Given the description of an element on the screen output the (x, y) to click on. 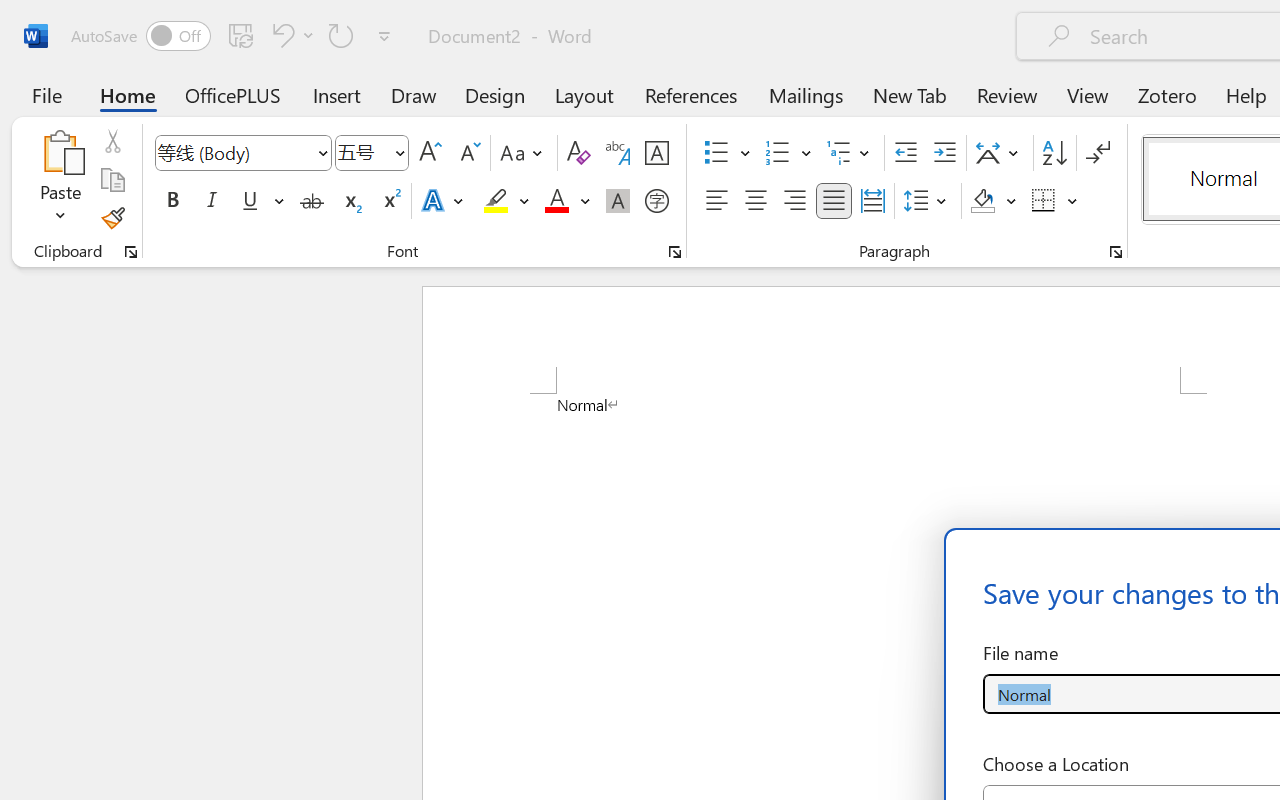
Save (241, 35)
Line and Paragraph Spacing (927, 201)
Font (234, 152)
Font Size (362, 152)
Zotero (1166, 94)
Subscript (350, 201)
Multilevel List (850, 153)
Font... (675, 252)
Paste (60, 151)
Character Border (656, 153)
Font (242, 153)
Bold (172, 201)
More Options (1073, 201)
New Tab (909, 94)
